Given the description of an element on the screen output the (x, y) to click on. 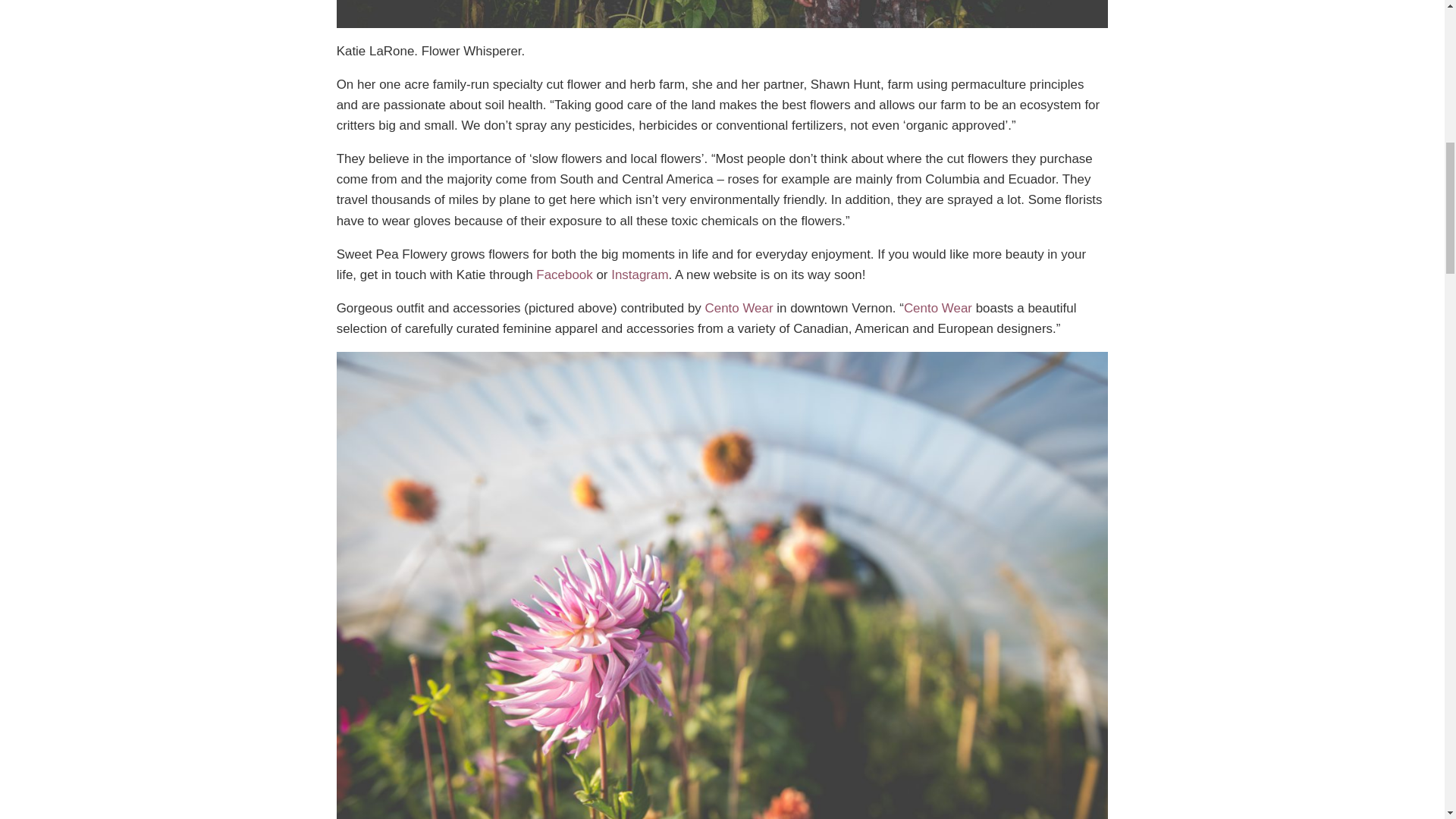
Instagram (639, 274)
Cento Wear (738, 308)
Cento Wear (938, 308)
Facebook (563, 274)
